Given the description of an element on the screen output the (x, y) to click on. 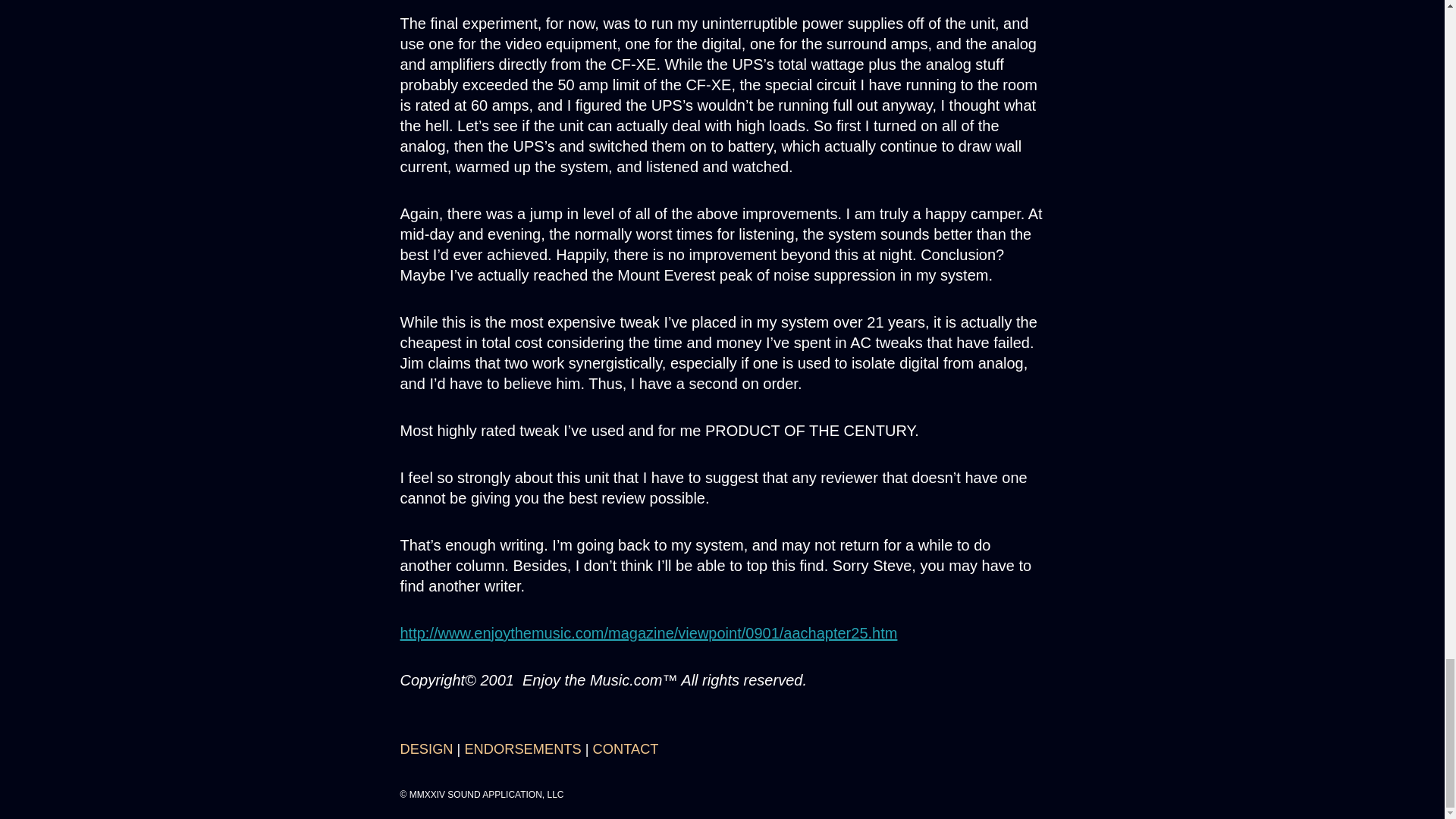
CONTACT (625, 748)
ENDORSEMENTS (522, 748)
DESIGN (426, 748)
